Given the description of an element on the screen output the (x, y) to click on. 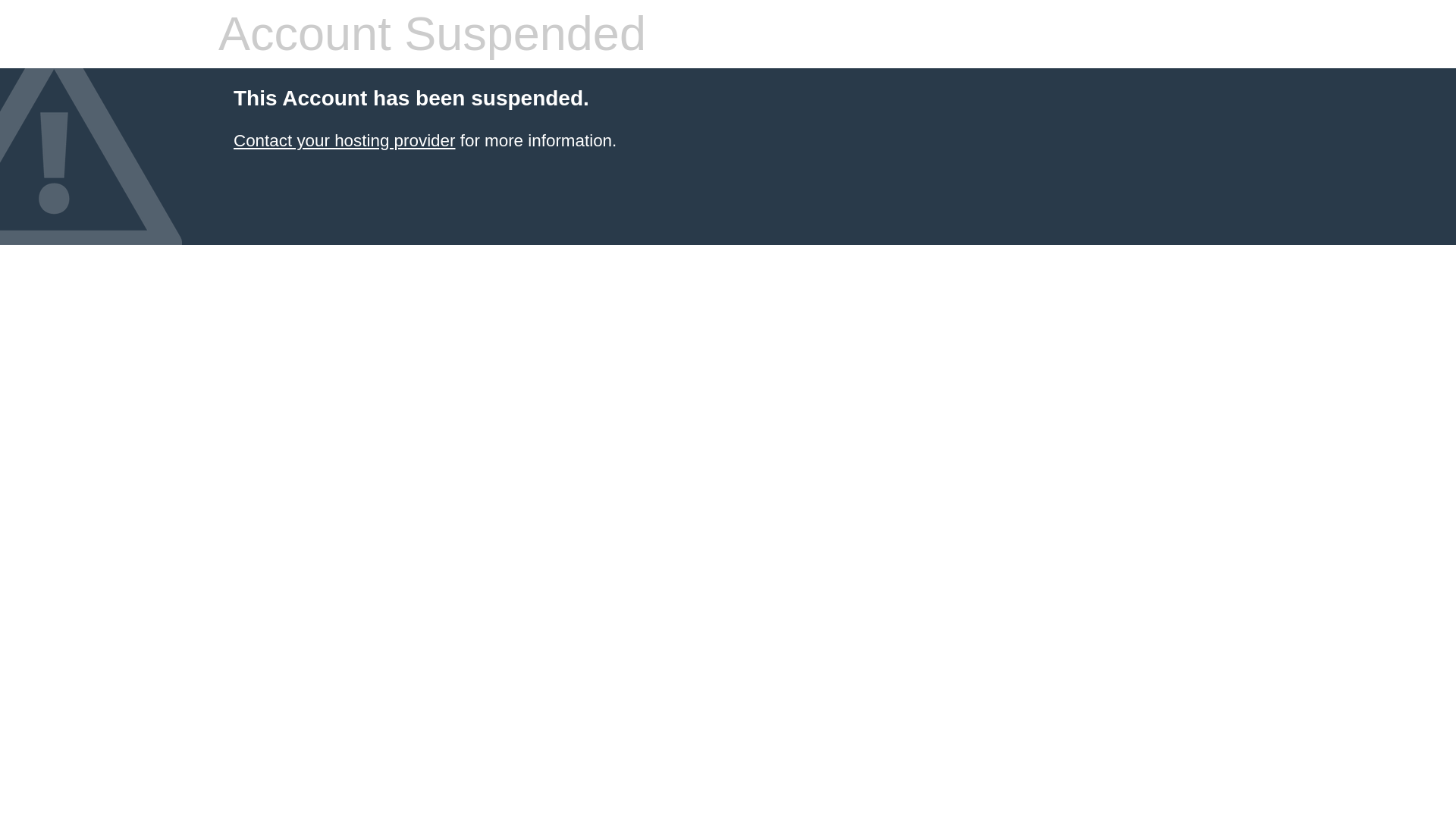
Contact your hosting provider (343, 140)
